Given the description of an element on the screen output the (x, y) to click on. 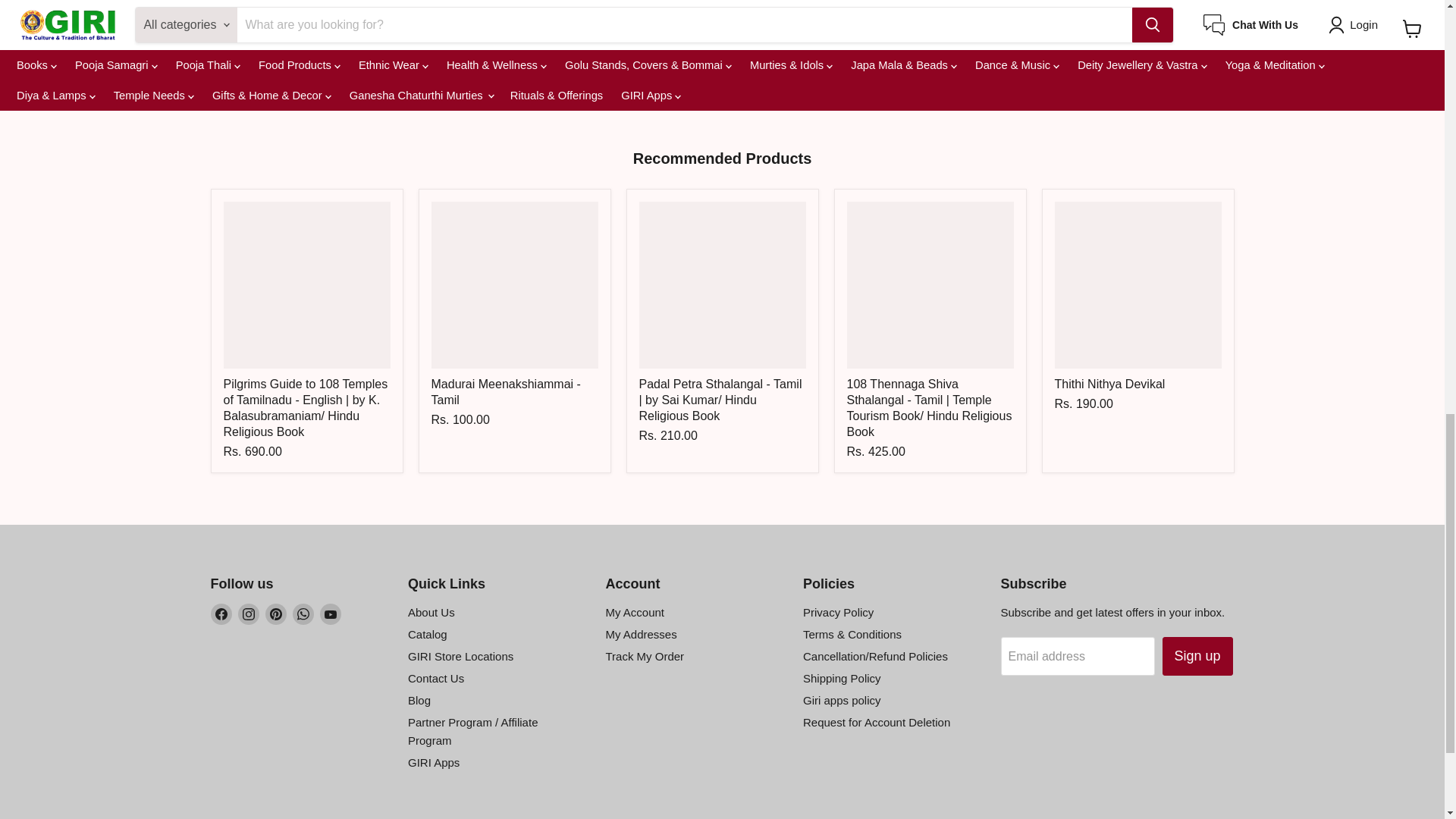
Facebook (221, 613)
YouTube (330, 613)
WhatsApp (303, 613)
Instagram (248, 613)
Pinterest (275, 613)
